Given the description of an element on the screen output the (x, y) to click on. 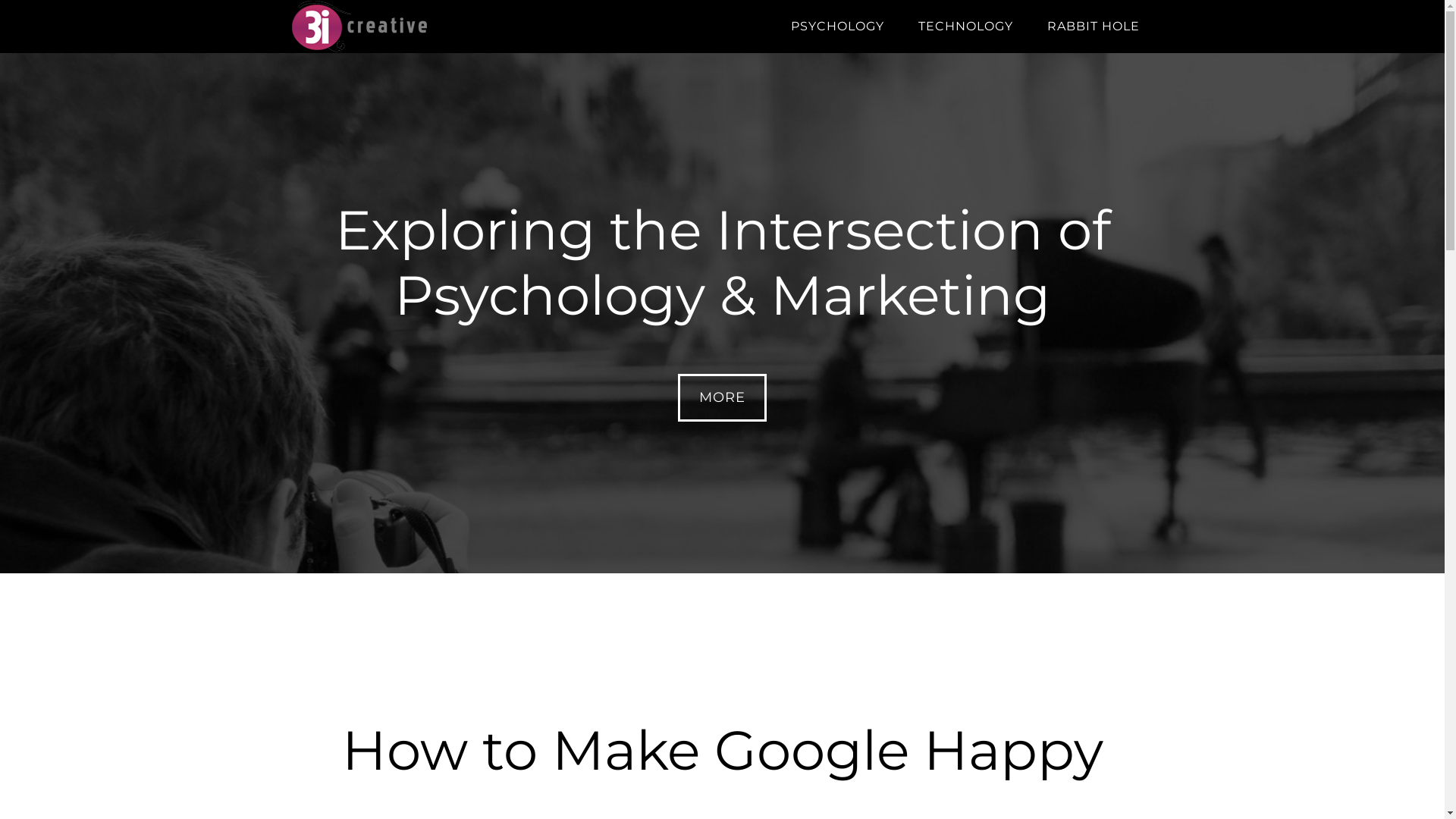
PSYCHOLOGY Element type: text (836, 26)
TECHNOLOGY Element type: text (964, 26)
MORE Element type: text (721, 397)
.: 3ICREATIVE :. Element type: text (425, 26)
RABBIT HOLE Element type: text (1092, 26)
